Given the description of an element on the screen output the (x, y) to click on. 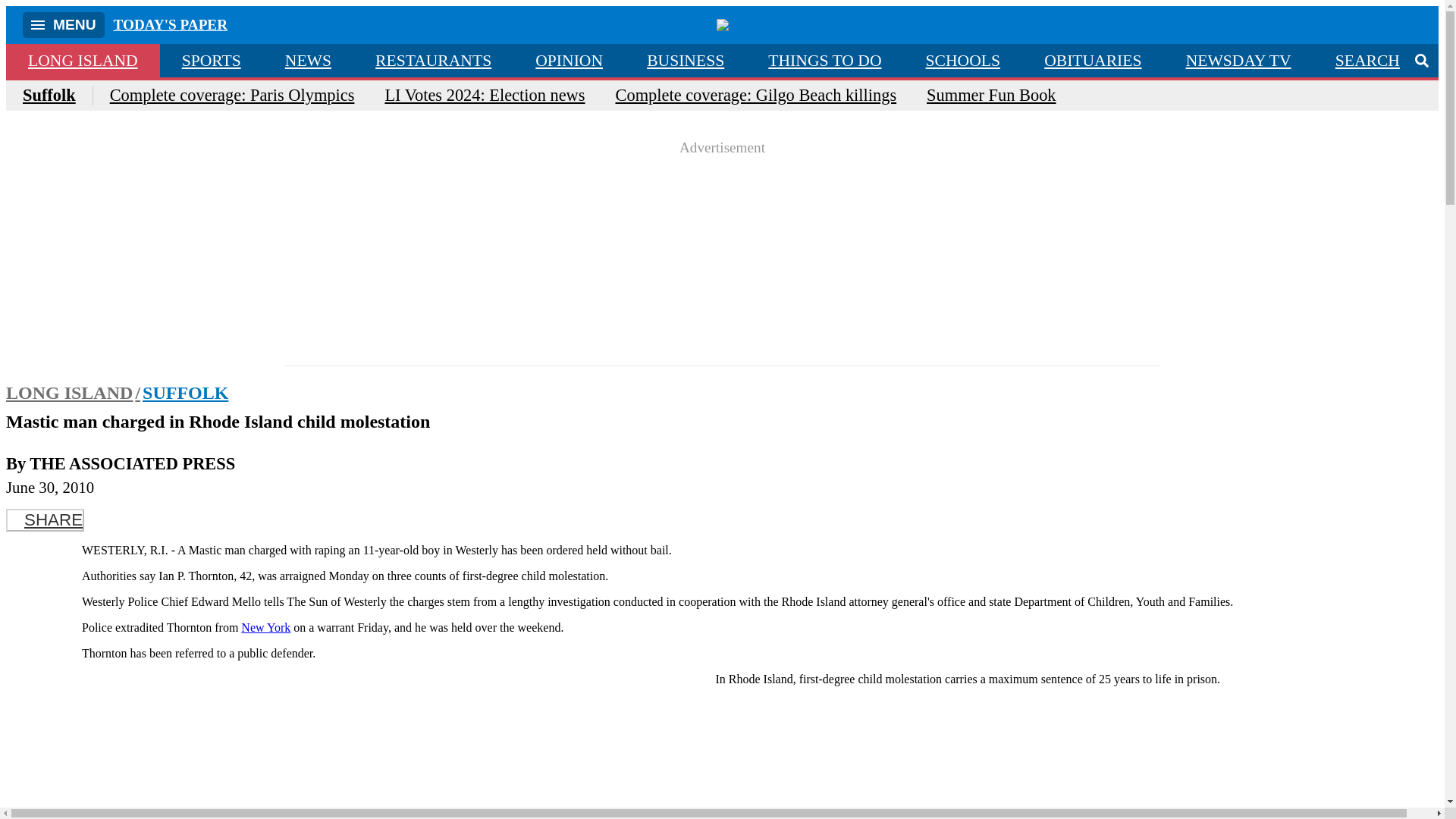
Complete coverage: Paris Olympics (232, 95)
Summer Fun Book (990, 95)
SPORTS (211, 60)
LONG ISLAND (73, 392)
Complete coverage: Gilgo Beach killings (755, 95)
LONG ISLAND (82, 60)
NEWS (308, 60)
OPINION (568, 60)
TODAY'S PAPER (170, 24)
OBITUARIES (1092, 60)
New York (265, 626)
SUFFOLK (185, 392)
Suffolk (58, 95)
SHARE (44, 519)
SEARCH (1375, 60)
